Given the description of an element on the screen output the (x, y) to click on. 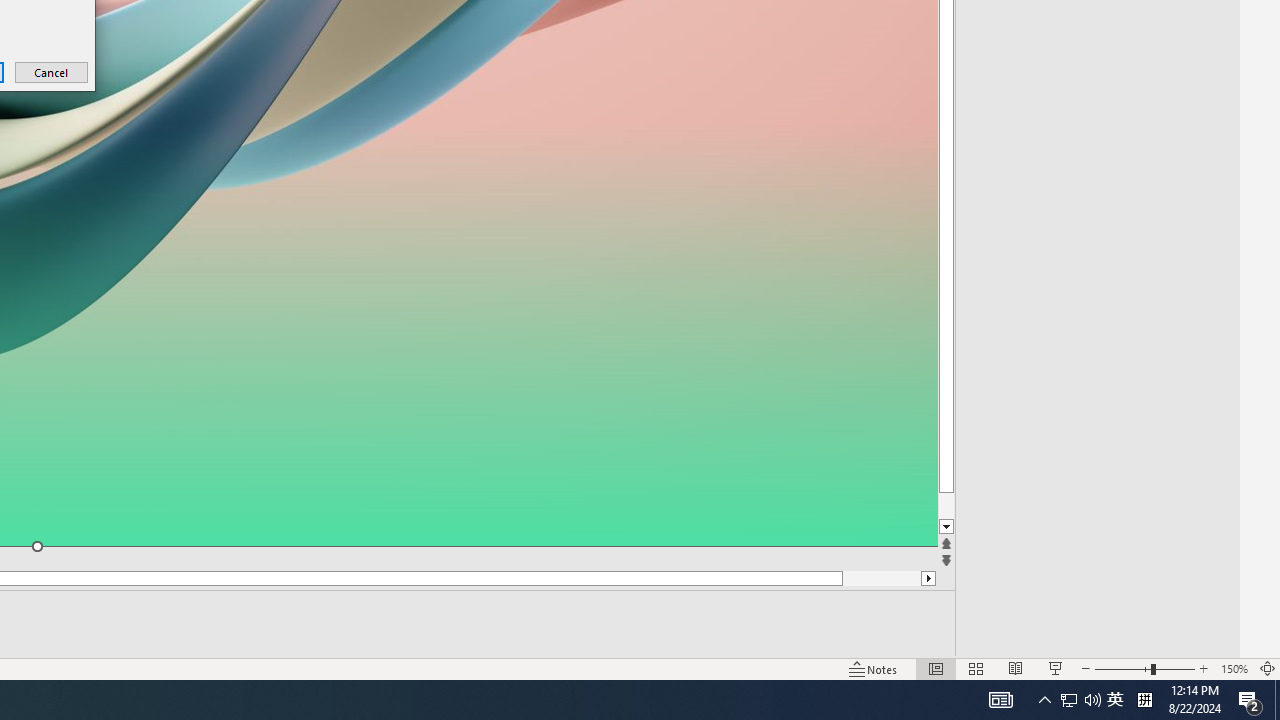
Q2790: 100% (1092, 699)
Line down (983, 527)
AutomationID: 4105 (1000, 699)
User Promoted Notification Area (1080, 699)
Zoom 150% (1234, 668)
Notes  (874, 668)
Notification Chevron (1044, 699)
Page down (983, 506)
